Given the description of an element on the screen output the (x, y) to click on. 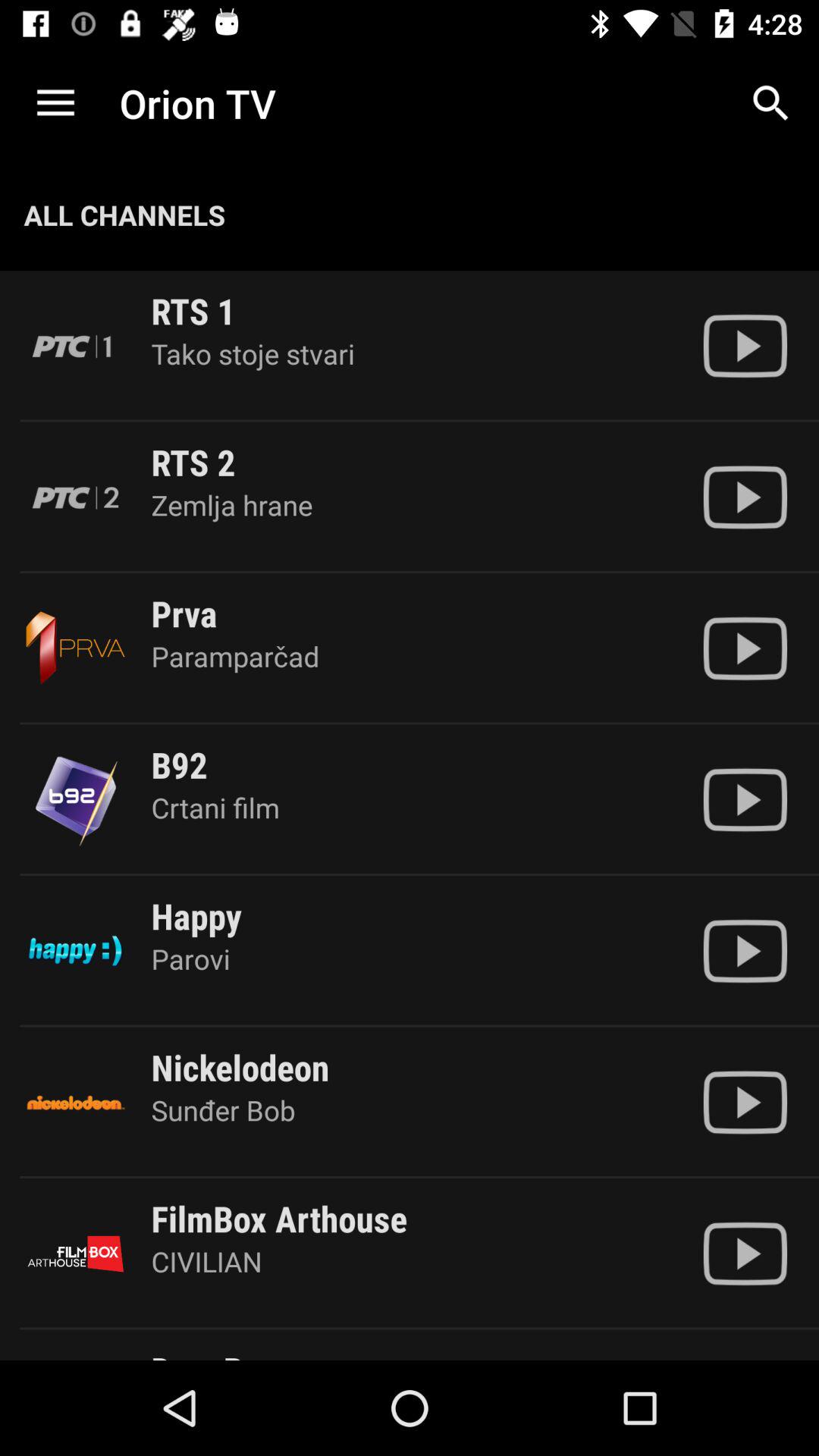
flip until the all channels (124, 214)
